Given the description of an element on the screen output the (x, y) to click on. 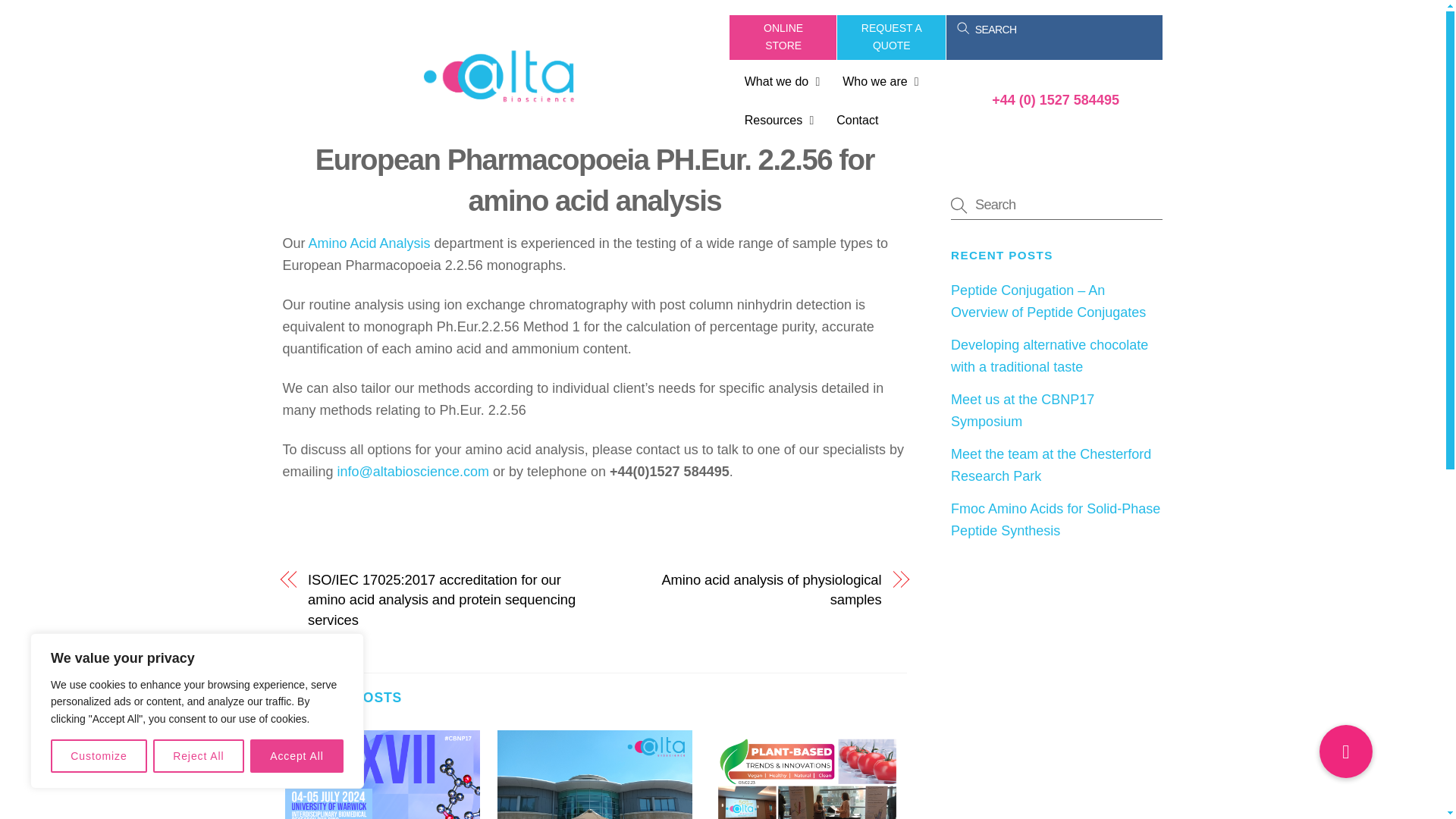
Search (1055, 204)
Reject All (198, 756)
AltaBioscience-logo-footer (499, 77)
REQUEST A QUOTE (890, 37)
Who we are (835, 101)
Meet the team at the Chesterford Research Park (876, 82)
Accept All (595, 773)
Meet us at the CBNP17 Symposium (836, 37)
